Given the description of an element on the screen output the (x, y) to click on. 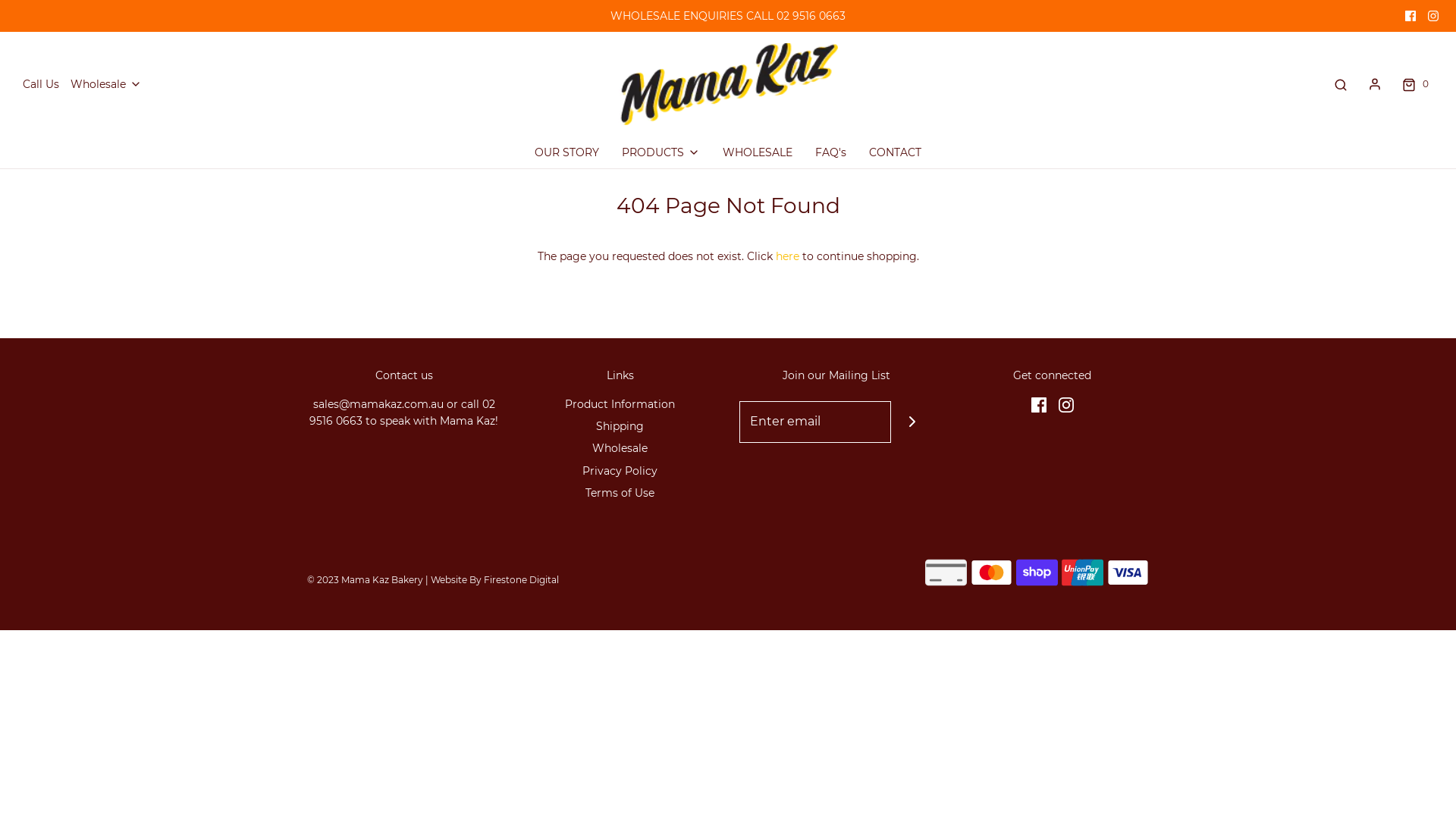
Shipping Element type: text (619, 428)
WHOLESALE Element type: text (757, 152)
Log in Element type: hover (1374, 84)
Call Us Element type: text (40, 83)
FAQ's Element type: text (830, 152)
Search Element type: hover (1340, 83)
Wholesale Element type: text (619, 450)
Facebook icon Element type: text (1410, 15)
Product Information Element type: text (619, 406)
CONTACT Element type: text (895, 152)
Instagram icon Element type: text (1065, 403)
Terms of Use Element type: text (619, 495)
PRODUCTS Element type: text (660, 152)
Facebook icon Element type: text (1038, 403)
Privacy Policy Element type: text (619, 473)
0 Element type: text (1414, 83)
OUR STORY Element type: text (566, 152)
Website By Firestone Digital Element type: text (494, 579)
Instagram icon Element type: text (1432, 15)
Wholesale Element type: text (105, 83)
WHOLESALE ENQUIRIES CALL 02 9516 0663 Element type: text (727, 15)
here Element type: text (786, 256)
